Given the description of an element on the screen output the (x, y) to click on. 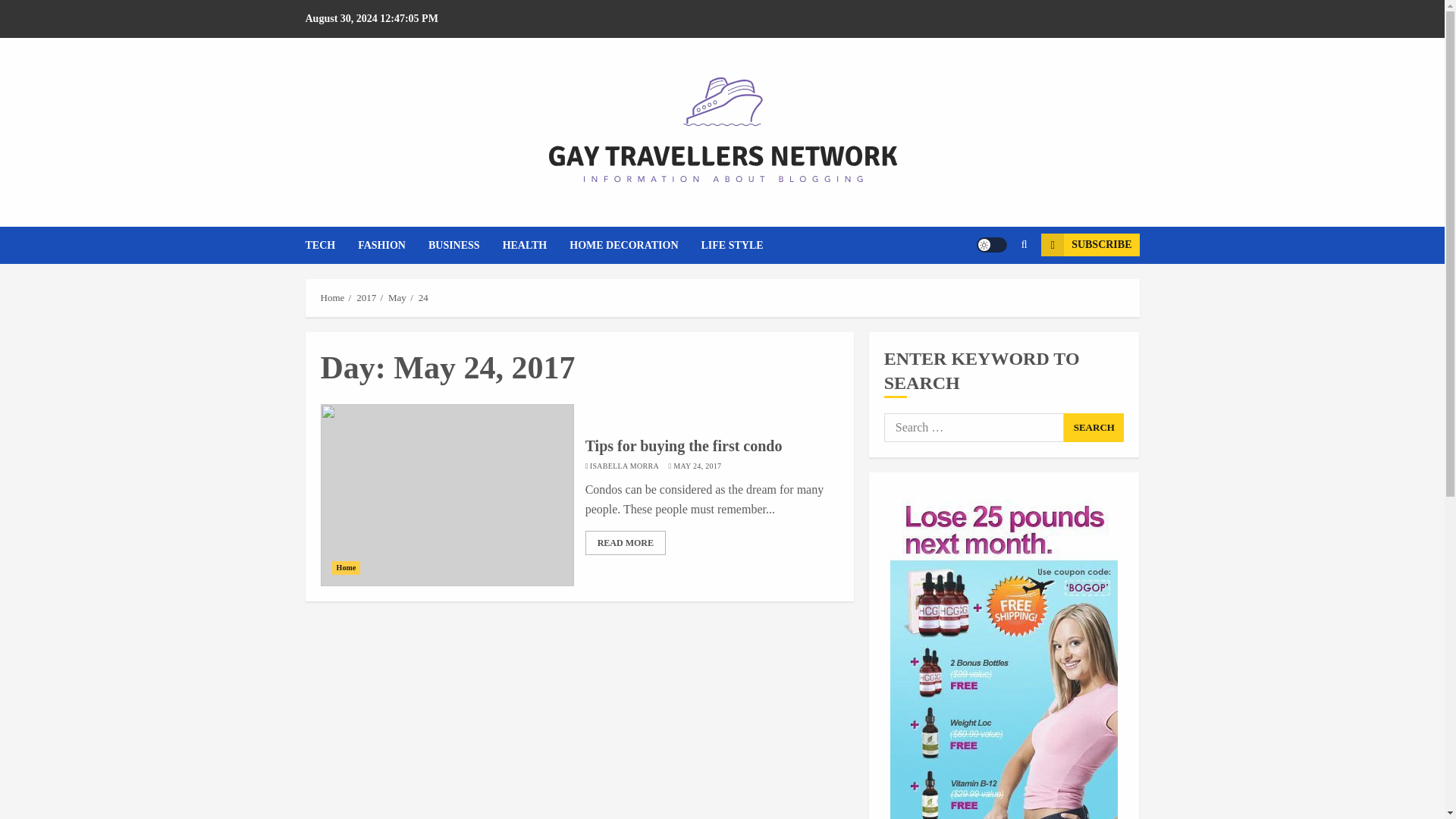
Tips for buying the first condo (684, 446)
Search (1094, 427)
Home (331, 297)
ISABELLA MORRA (624, 466)
SUBSCRIBE (1089, 244)
FASHION (393, 244)
Search (994, 290)
Search (1094, 427)
BUSINESS (465, 244)
HOME DECORATION (634, 244)
